Given the description of an element on the screen output the (x, y) to click on. 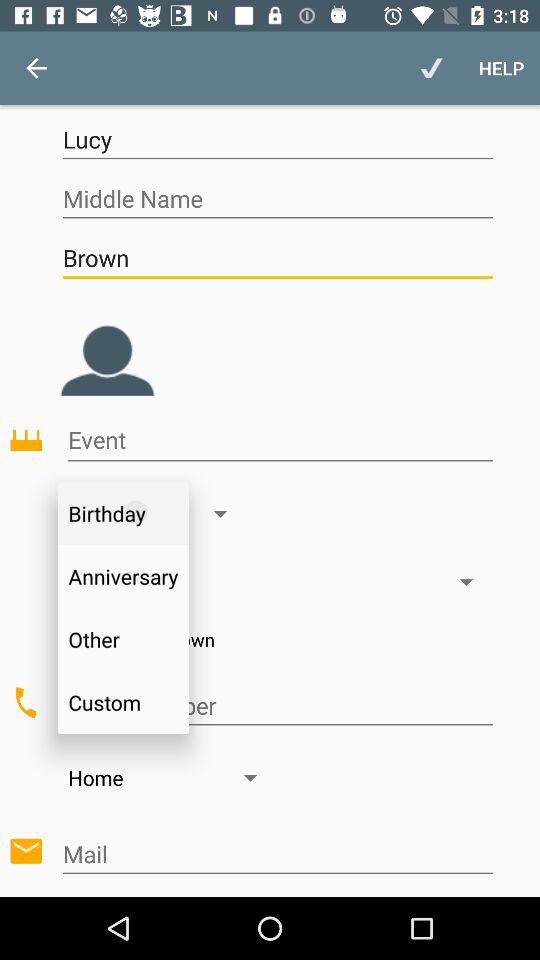
click item below the lucy icon (277, 198)
